Given the description of an element on the screen output the (x, y) to click on. 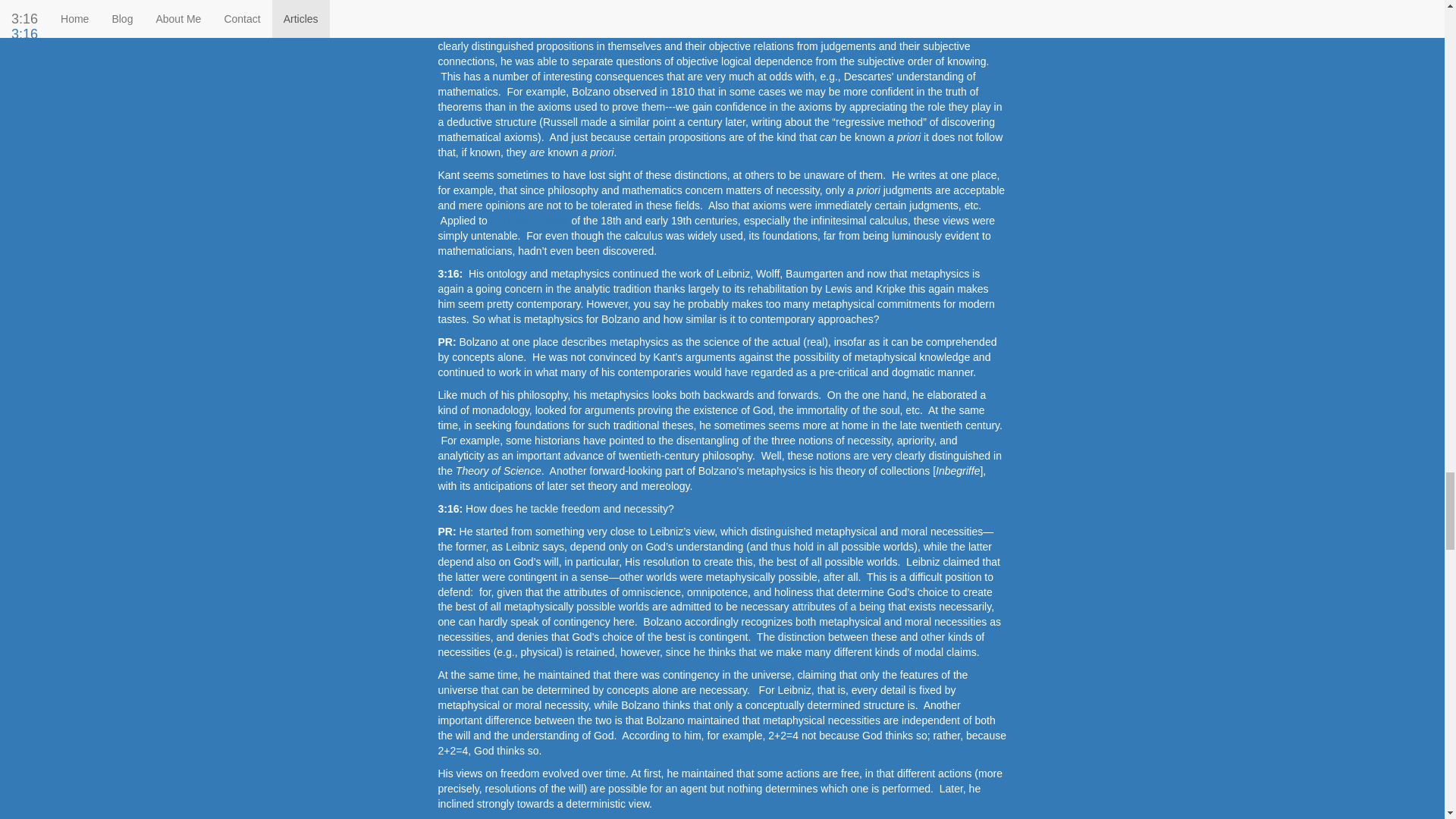
the mathematics (529, 220)
of mathematics (799, 30)
